Given the description of an element on the screen output the (x, y) to click on. 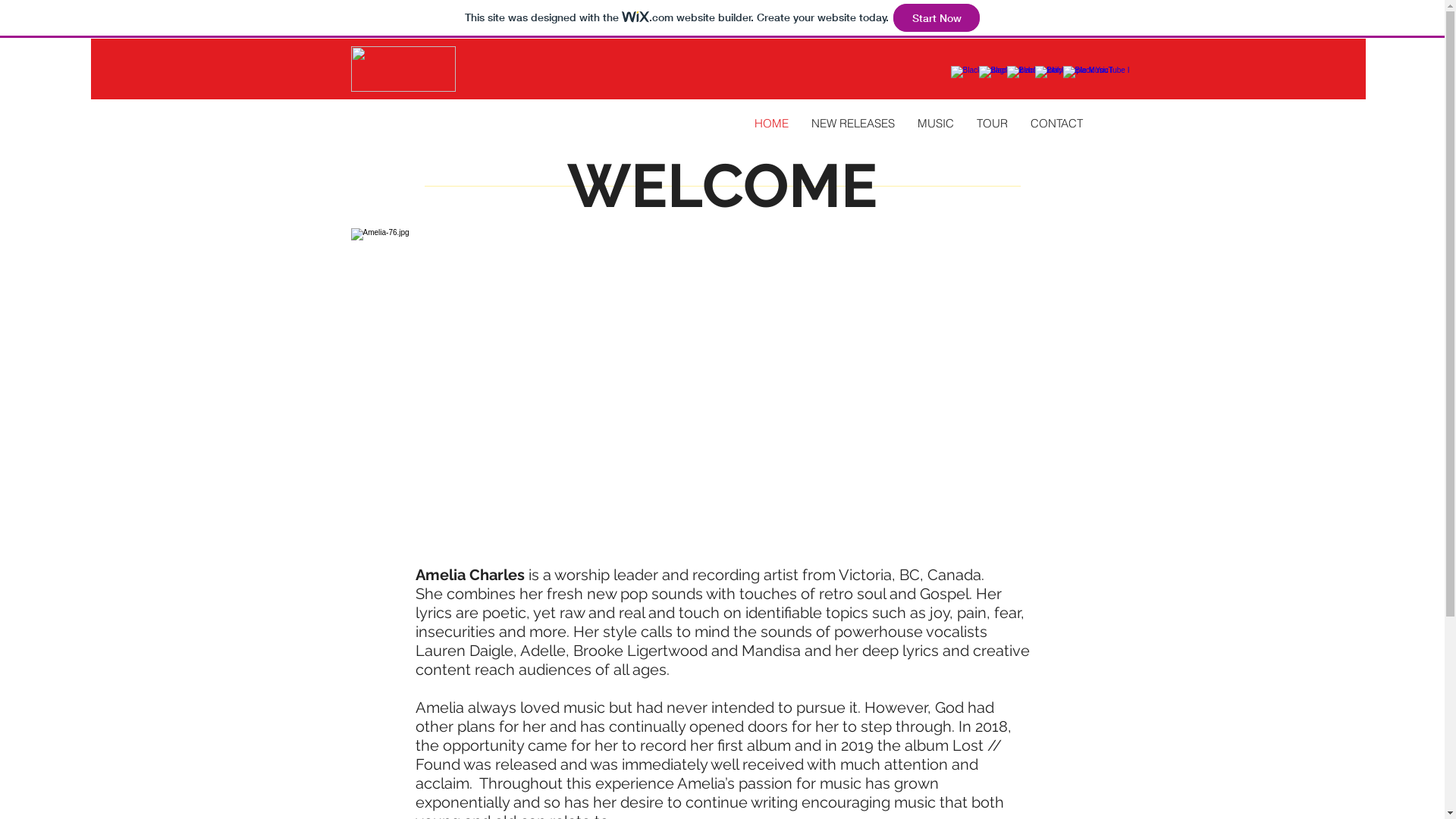
HOME Element type: text (771, 122)
CONTACT Element type: text (1056, 122)
NEW RELEASES Element type: text (852, 122)
MUSIC Element type: text (934, 122)
AMELIA-CHARLES-LOGO.png Element type: hover (402, 68)
TOUR Element type: text (991, 122)
